Given the description of an element on the screen output the (x, y) to click on. 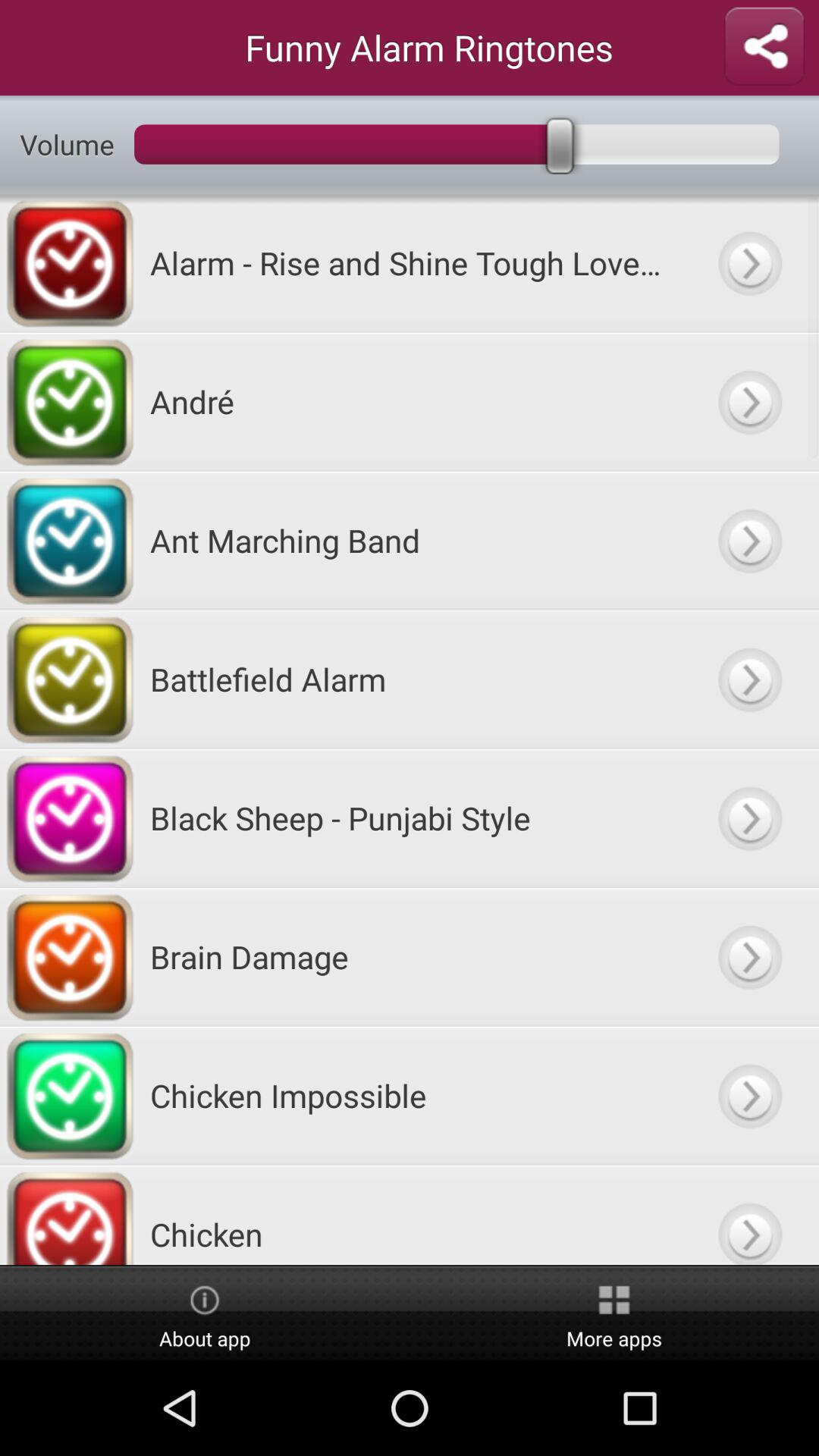
alarm option (749, 262)
